Given the description of an element on the screen output the (x, y) to click on. 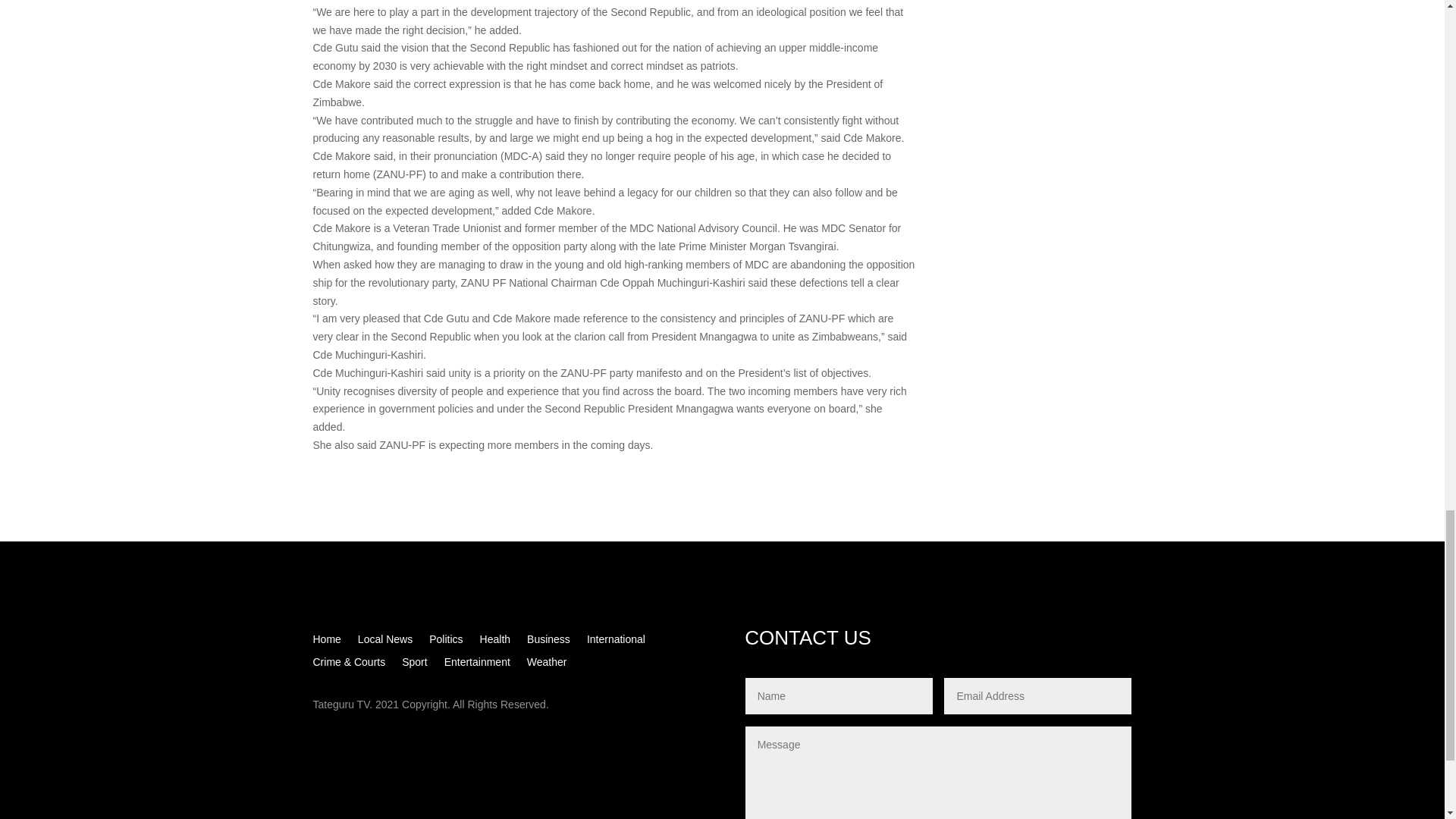
Politics (446, 641)
Home (326, 641)
Local News (385, 641)
